Given the description of an element on the screen output the (x, y) to click on. 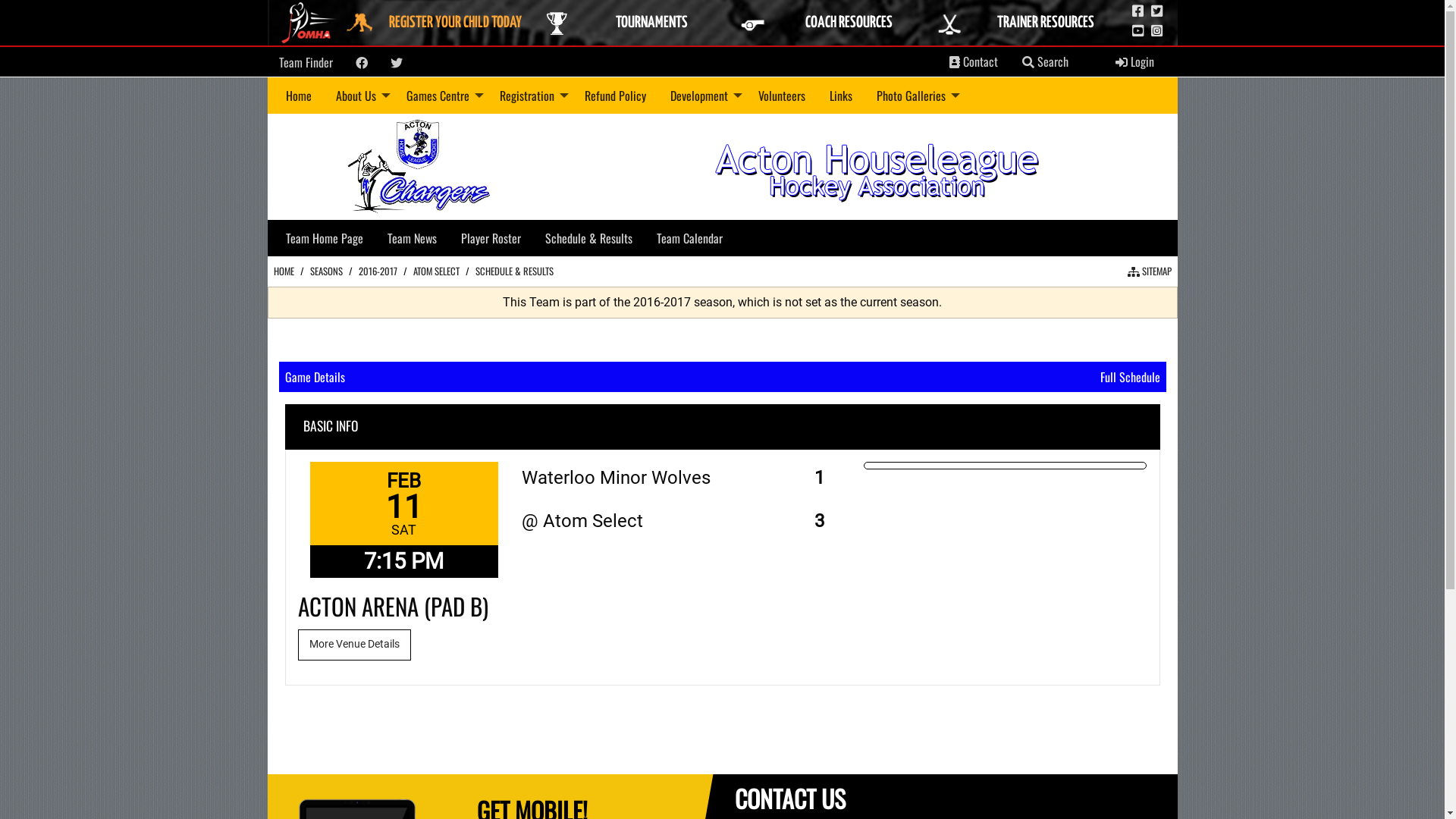
Contacts Element type: hover (954, 62)
About Us Element type: text (358, 95)
Full Schedule Element type: text (1129, 376)
Development Element type: text (702, 95)
Team Finder Element type: text (305, 62)
 Search Element type: text (1045, 61)
Registration Element type: text (528, 95)
 Contact Element type: text (973, 61)
TOURNAMENTS Element type: text (635, 22)
More Venue Details Element type: text (354, 644)
2016-2017 Element type: text (376, 270)
Search Element type: hover (1028, 62)
BASIC INFO Element type: text (330, 426)
Team News Element type: text (411, 237)
Player Roster Element type: text (490, 237)
Games Centre Element type: text (440, 95)
SCHEDULE & RESULTS Element type: text (513, 270)
OMHA Instagram Page Element type: hover (1156, 30)
Team Calendar Element type: text (689, 237)
OMHA Facebook Page Element type: hover (1136, 11)
Refund Policy Element type: text (614, 95)
Twitter Element type: hover (395, 62)
TRAINER RESOURCES Element type: text (1029, 22)
Home Element type: text (298, 95)
 Login Element type: text (1133, 61)
Schedule & Results Element type: text (587, 237)
Link to OMHA Website Element type: hover (310, 22)
REGISTER YOUR CHILD TODAY Element type: text (438, 22)
Volunteers Element type: text (781, 95)
OMHA Twitter Account Element type: hover (1156, 11)
Team Home Page Element type: text (323, 237)
Links Element type: text (840, 95)
HOME Element type: text (283, 270)
 SITEMAP Element type: text (1148, 270)
COACH RESOURCES Element type: text (832, 22)
SEASONS Element type: text (325, 270)
ATOM SELECT Element type: text (435, 270)
Photo Galleries Element type: text (913, 95)
OMHA YouTube Channel Element type: hover (1136, 30)
Facebook Element type: hover (360, 62)
